Given the description of an element on the screen output the (x, y) to click on. 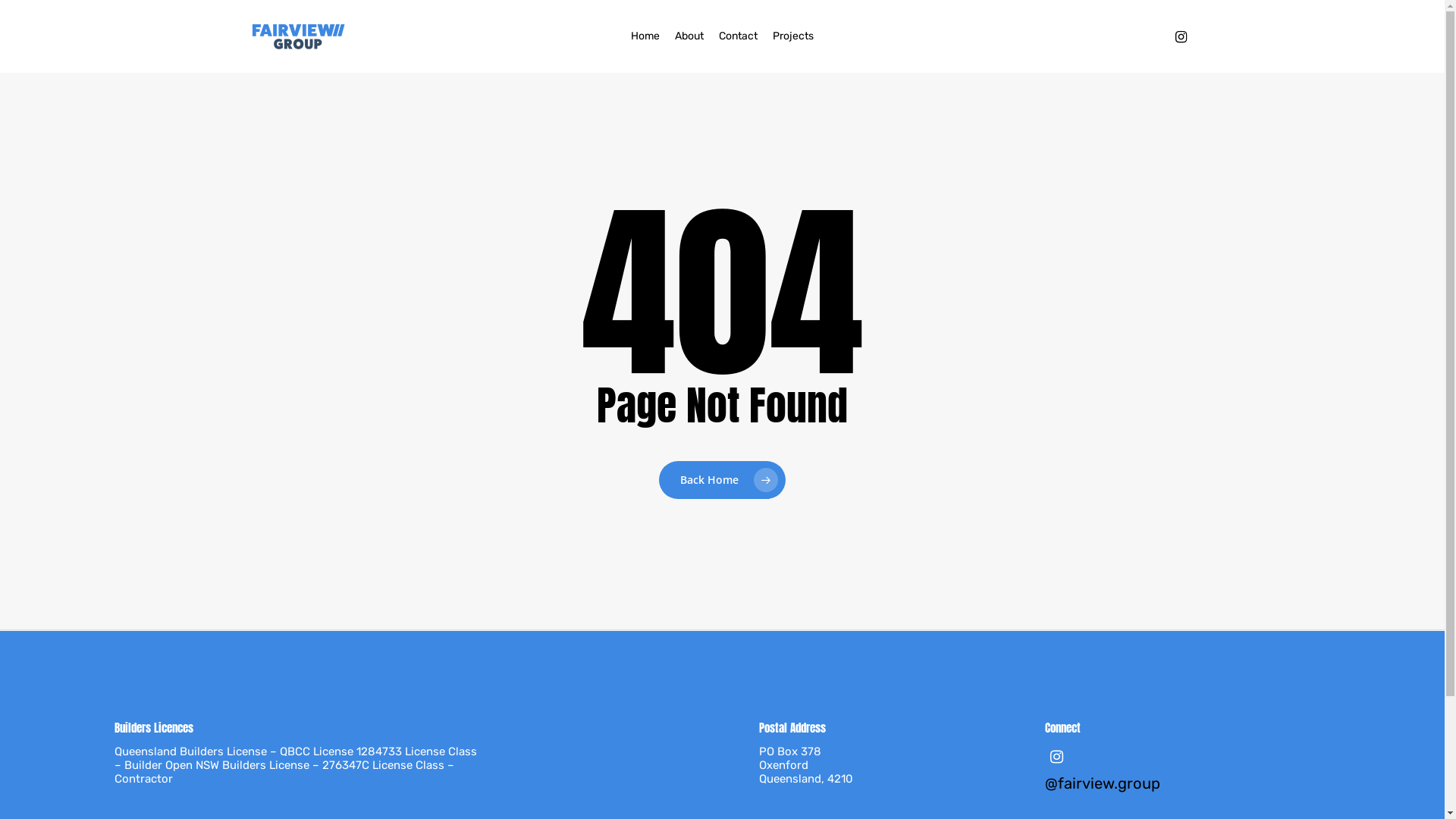
@fairview.group Element type: text (1187, 793)
instagram Element type: text (1180, 36)
About Element type: text (688, 35)
Home Element type: text (644, 35)
Projects Element type: text (792, 35)
Contact Element type: text (737, 35)
Back Home Element type: text (721, 479)
